Given the description of an element on the screen output the (x, y) to click on. 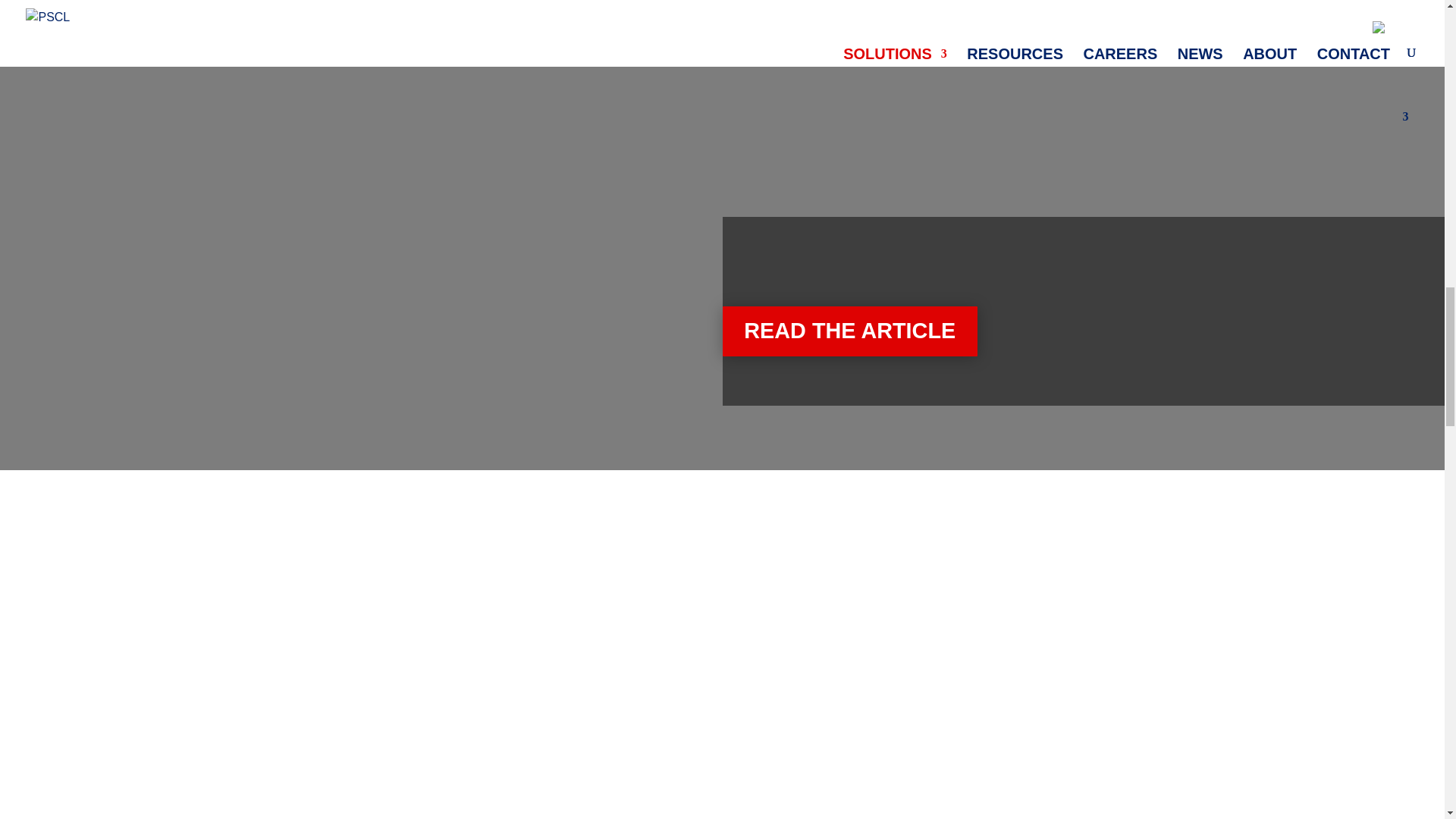
READ THE ARTICLE (849, 331)
